Given the description of an element on the screen output the (x, y) to click on. 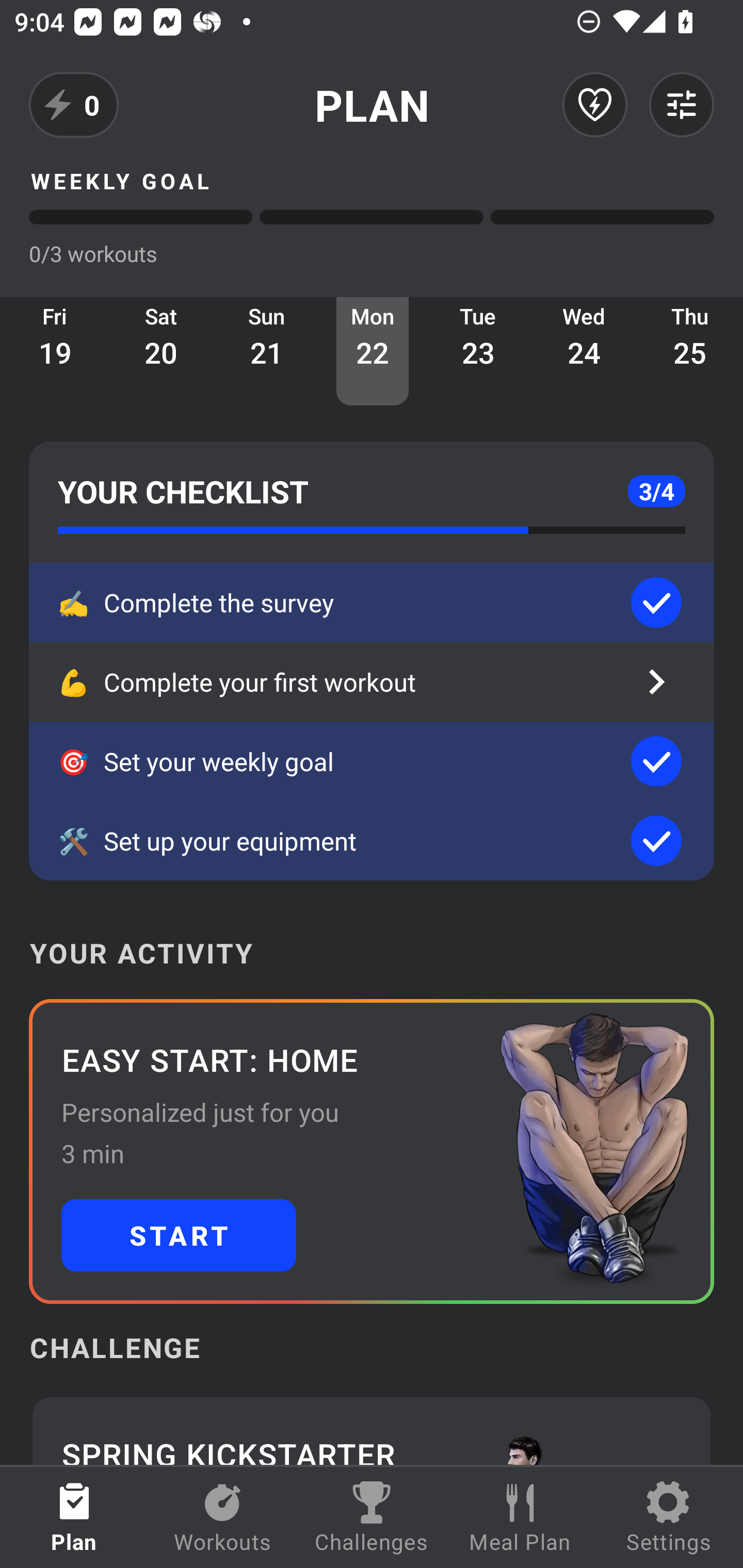
0 (73, 104)
Fri 19 (55, 351)
Sat 20 (160, 351)
Sun 21 (266, 351)
Mon 22 (372, 351)
Tue 23 (478, 351)
Wed 24 (584, 351)
Thu 25 (690, 351)
💪 Complete your first workout (371, 681)
START (178, 1235)
 Workouts  (222, 1517)
 Challenges  (371, 1517)
 Meal Plan  (519, 1517)
 Settings  (668, 1517)
